Given the description of an element on the screen output the (x, y) to click on. 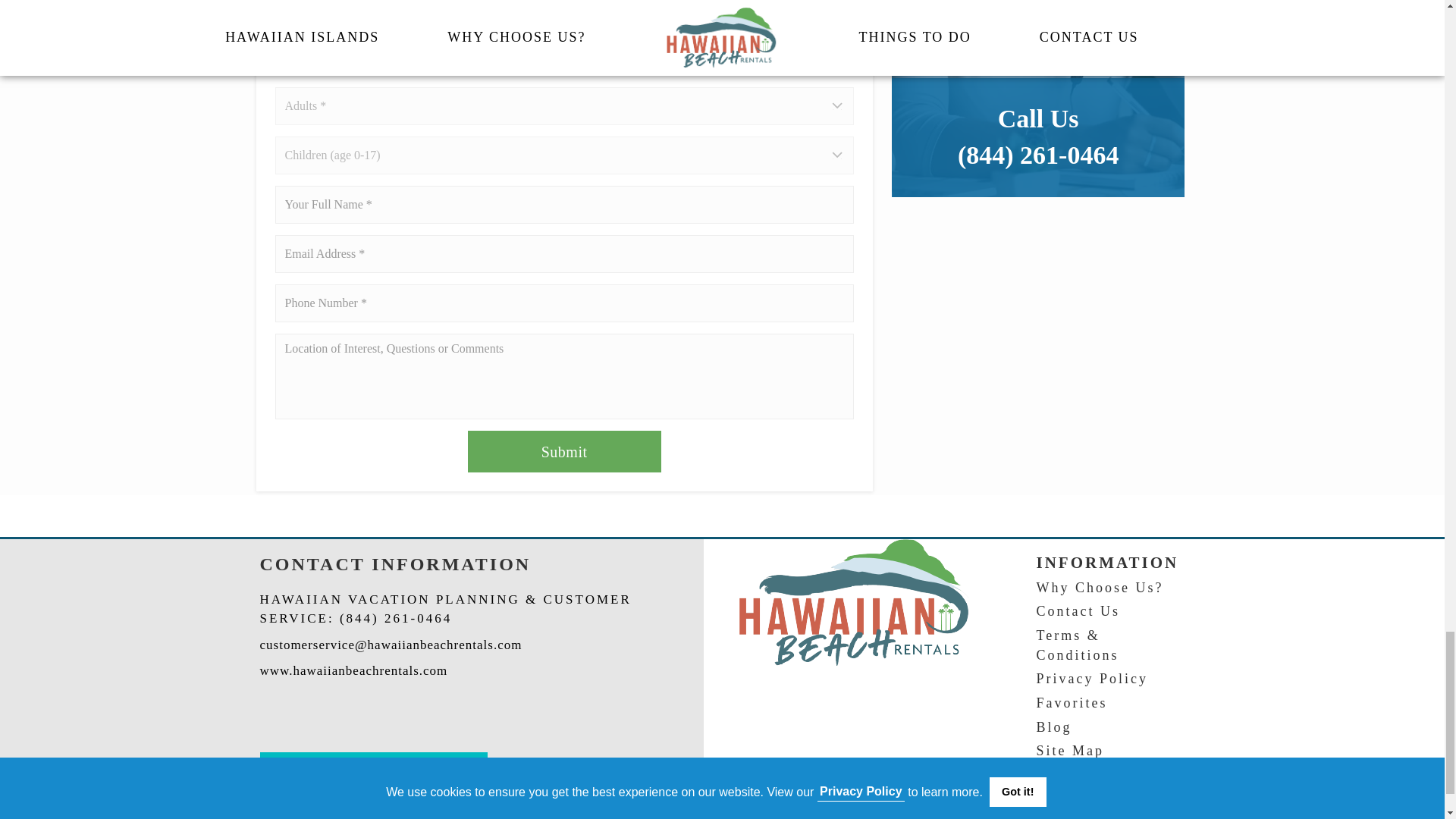
Submit (564, 451)
